Given the description of an element on the screen output the (x, y) to click on. 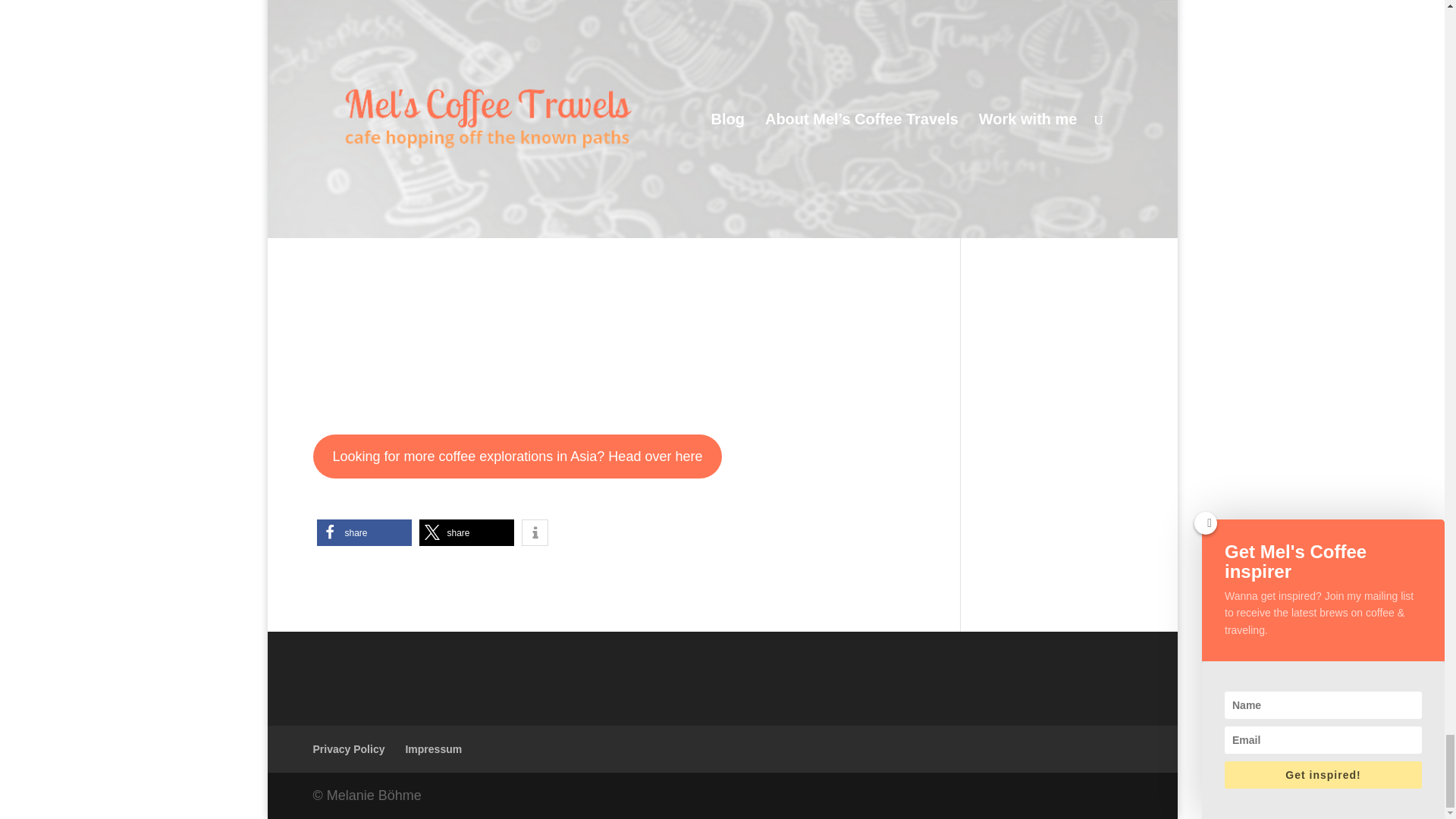
Looking for more coffee explorations in Asia? Head over here (517, 456)
share  (466, 532)
More information (534, 532)
Share on Facebook (364, 532)
share  (364, 532)
Share on X (466, 532)
